Given the description of an element on the screen output the (x, y) to click on. 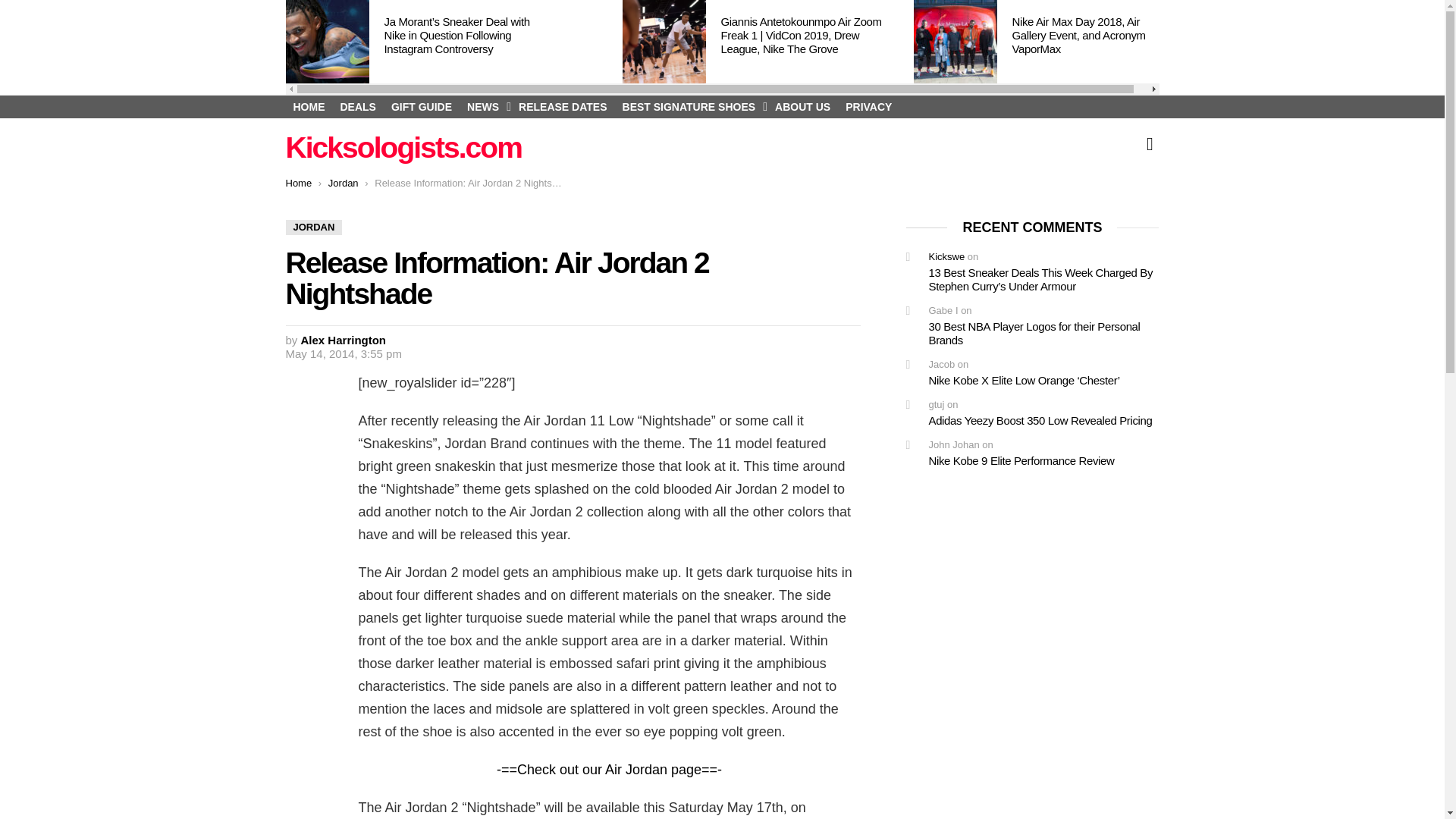
DEALS (356, 106)
Home (298, 183)
Alex Harrington (344, 339)
NEWS (485, 106)
Jordan (343, 183)
HOME (308, 106)
Kicksologists.com (403, 147)
ABOUT US (802, 106)
BEST SIGNATURE SHOES (691, 106)
Posts by Alex Harrington (344, 339)
RELEASE DATES (562, 106)
JORDAN (313, 227)
GIFT GUIDE (422, 106)
